Given the description of an element on the screen output the (x, y) to click on. 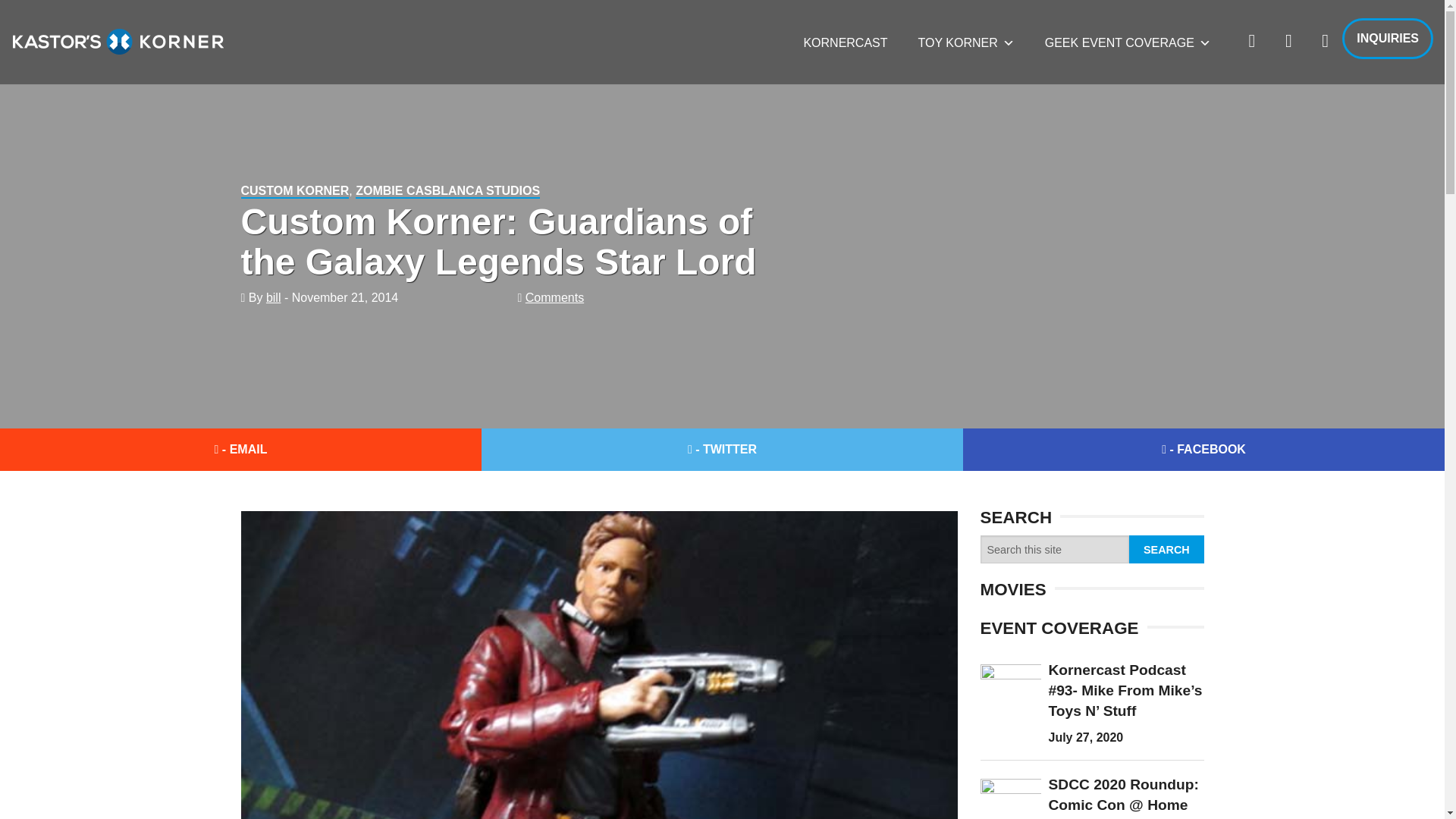
CUSTOM KORNER (295, 191)
ZOMBIE CASBLANCA STUDIOS (447, 191)
INQUIRIES (1387, 38)
- TWITTER (721, 449)
bill (273, 297)
Search (1166, 549)
- EMAIL (240, 449)
GEEK EVENT COVERAGE (1127, 42)
KORNERCAST (844, 42)
TOY KORNER (965, 42)
